Given the description of an element on the screen output the (x, y) to click on. 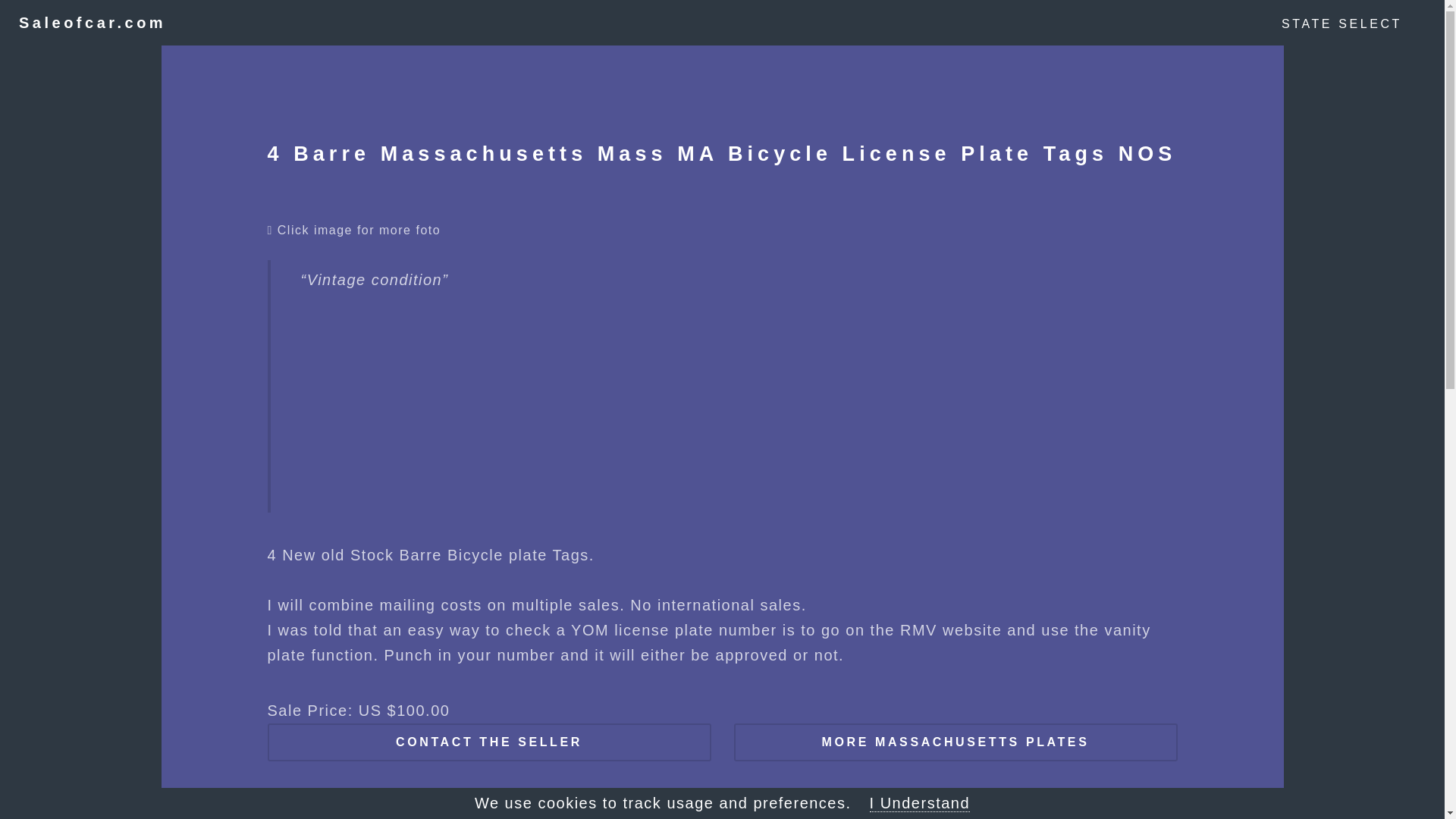
Saleofcar.com (91, 22)
CONTACT THE SELLER (488, 742)
MORE MASSACHUSETTS PLATES (955, 742)
